Given the description of an element on the screen output the (x, y) to click on. 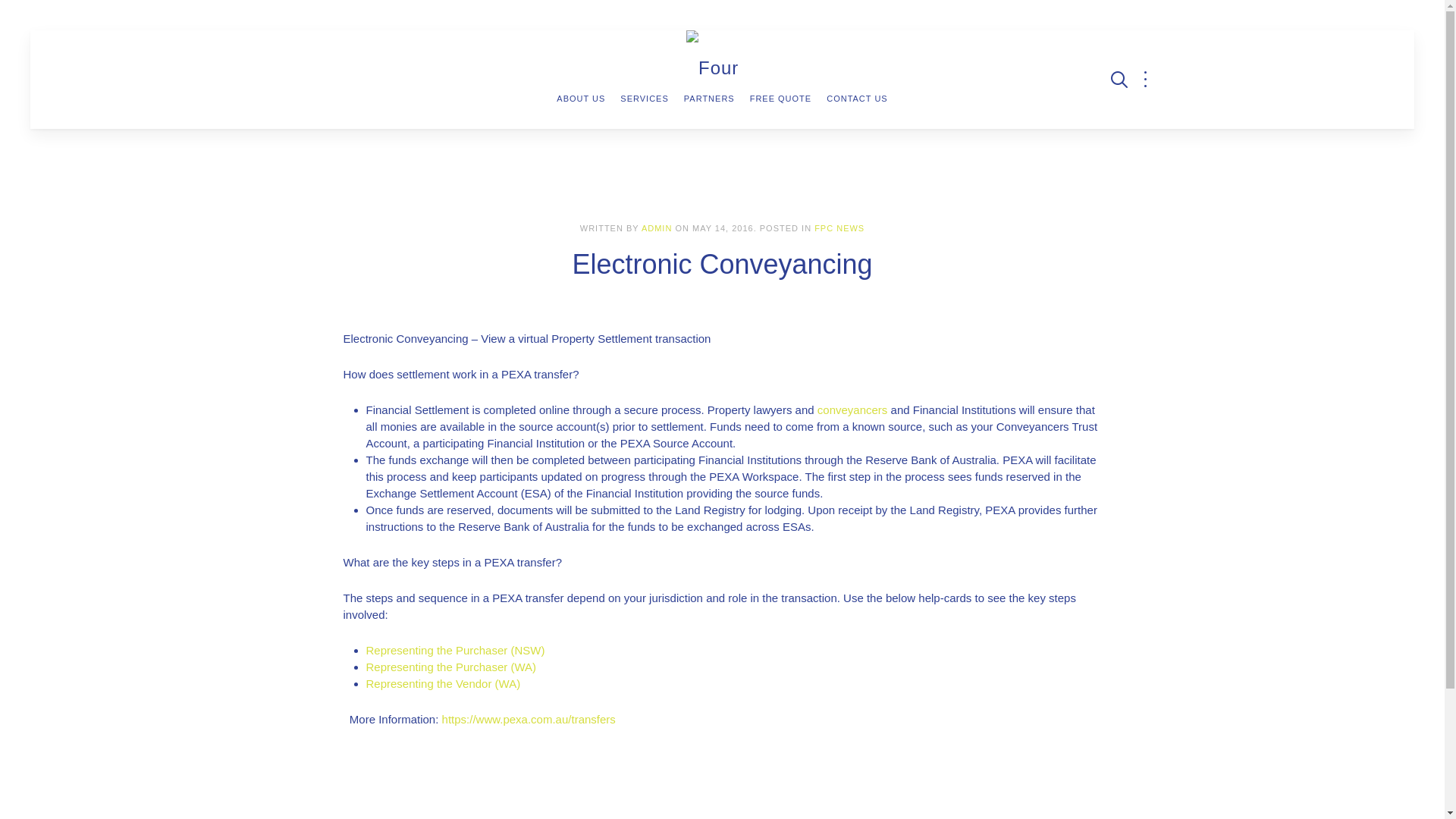
Representing the Purchaser (WA) Element type: text (450, 666)
Representing the Purchaser (NSW) Element type: text (454, 649)
Representing the Vendor (WA) Element type: text (442, 683)
CONTACT US Element type: text (857, 98)
conveyancers Element type: text (852, 409)
SERVICES Element type: text (643, 98)
ADMIN Element type: text (656, 227)
ABOUT US Element type: text (580, 98)
FPC NEWS Element type: text (839, 227)
PARTNERS Element type: text (709, 98)
https://www.pexa.com.au/transfers Element type: text (528, 718)
FREE QUOTE Element type: text (780, 98)
